Given the description of an element on the screen output the (x, y) to click on. 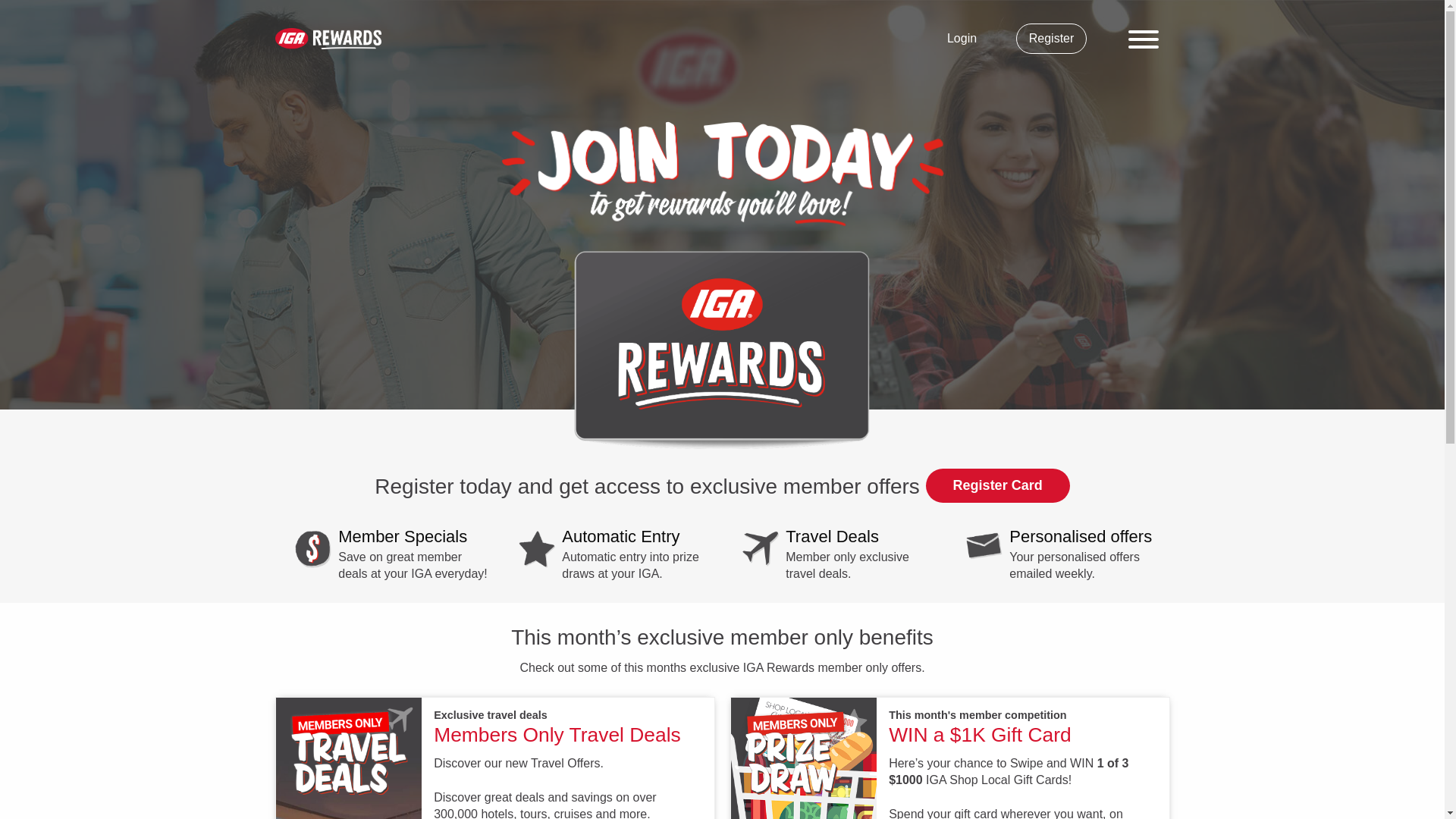
Register Card Element type: text (997, 485)
Login Element type: text (961, 38)
Register Element type: text (1051, 38)
